Given the description of an element on the screen output the (x, y) to click on. 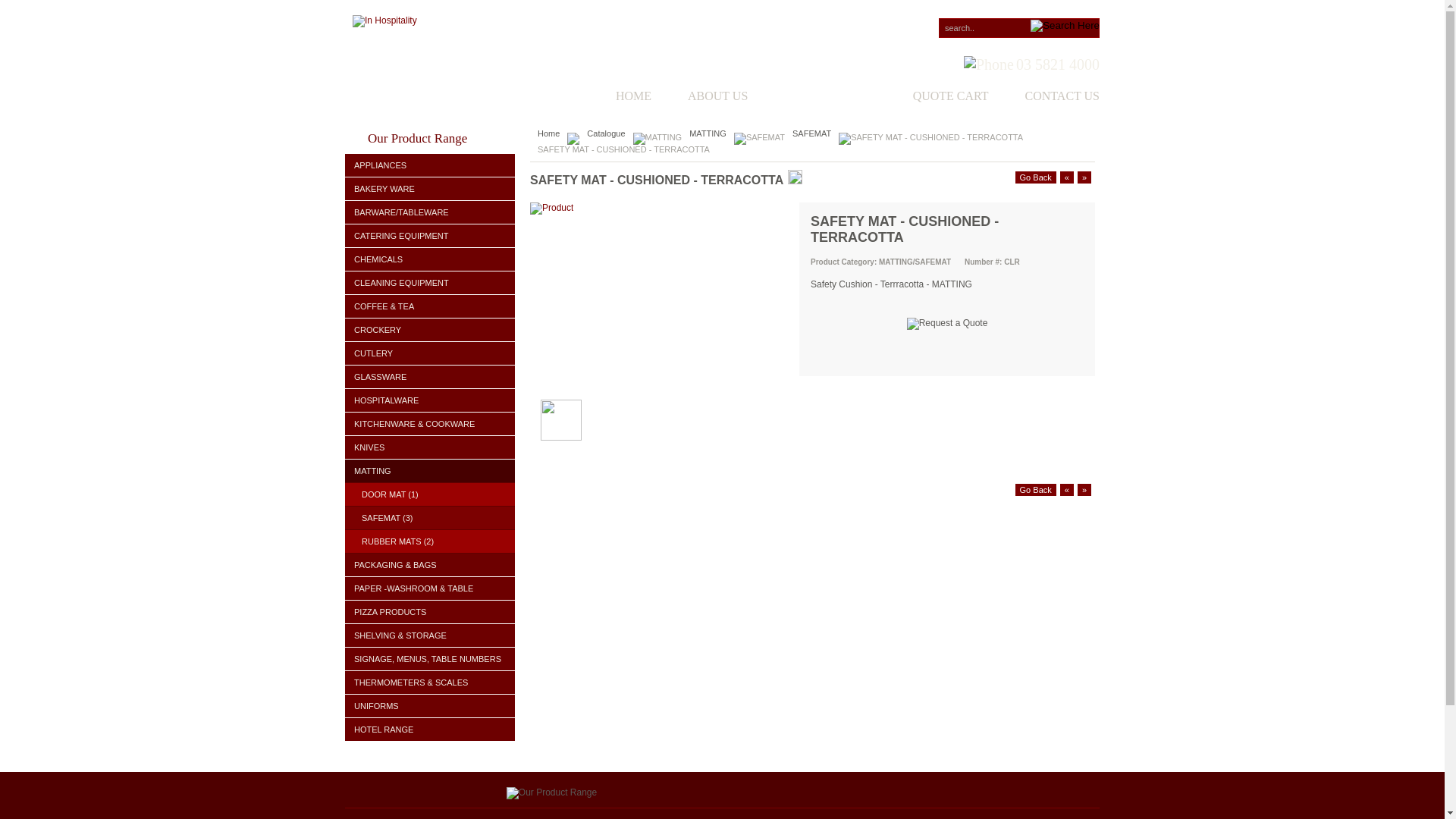
GLASSWARE Element type: text (429, 377)
CROCKERY Element type: text (429, 330)
Go Back Element type: text (1035, 177)
PACKAGING & BAGS Element type: text (429, 565)
COFFEE & TEA Element type: text (429, 306)
HOTEL RANGE Element type: text (429, 729)
In Hospitality Element type: hover (384, 21)
PAPER -WASHROOM & TABLE Element type: text (429, 588)
CATERING EQUIPMENT Element type: text (429, 235)
Home Element type: text (548, 133)
BARWARE/TABLEWARE Element type: text (429, 212)
CONTACT US Element type: text (1043, 96)
search.. Element type: text (1018, 27)
MATTING Element type: text (429, 471)
CHEMICALS Element type: text (429, 259)
QUOTE CART Element type: text (932, 96)
HOME Element type: text (615, 96)
BAKERY WARE Element type: text (429, 188)
THERMOMETERS & SCALES Element type: text (429, 682)
Catalogue Element type: text (605, 133)
PIZZA PRODUCTS Element type: text (429, 612)
DOOR MAT (1) Element type: text (429, 494)
HOSPITALWARE Element type: text (429, 400)
KITCHENWARE & COOKWARE Element type: text (429, 424)
APPLIANCES Element type: text (429, 165)
CLEANING EQUIPMENT Element type: text (429, 282)
CUTLERY Element type: text (429, 353)
SAFEMAT Element type: text (811, 133)
ABOUT US Element type: text (699, 96)
Search Here Element type: hover (1064, 25)
SAFEMAT (3) Element type: text (429, 518)
Our Product Range Element type: hover (551, 793)
KNIVES Element type: text (429, 447)
Request a Quote Element type: hover (947, 323)
UNIFORMS Element type: text (429, 706)
SHELVING & STORAGE Element type: text (429, 635)
OUR PRODUCTS Element type: text (811, 96)
Go Back Element type: text (1035, 489)
MATTING Element type: text (707, 133)
SIGNAGE, MENUS, TABLE NUMBERS ETC. Element type: text (429, 659)
RUBBER MATS (2) Element type: text (429, 541)
